Given the description of an element on the screen output the (x, y) to click on. 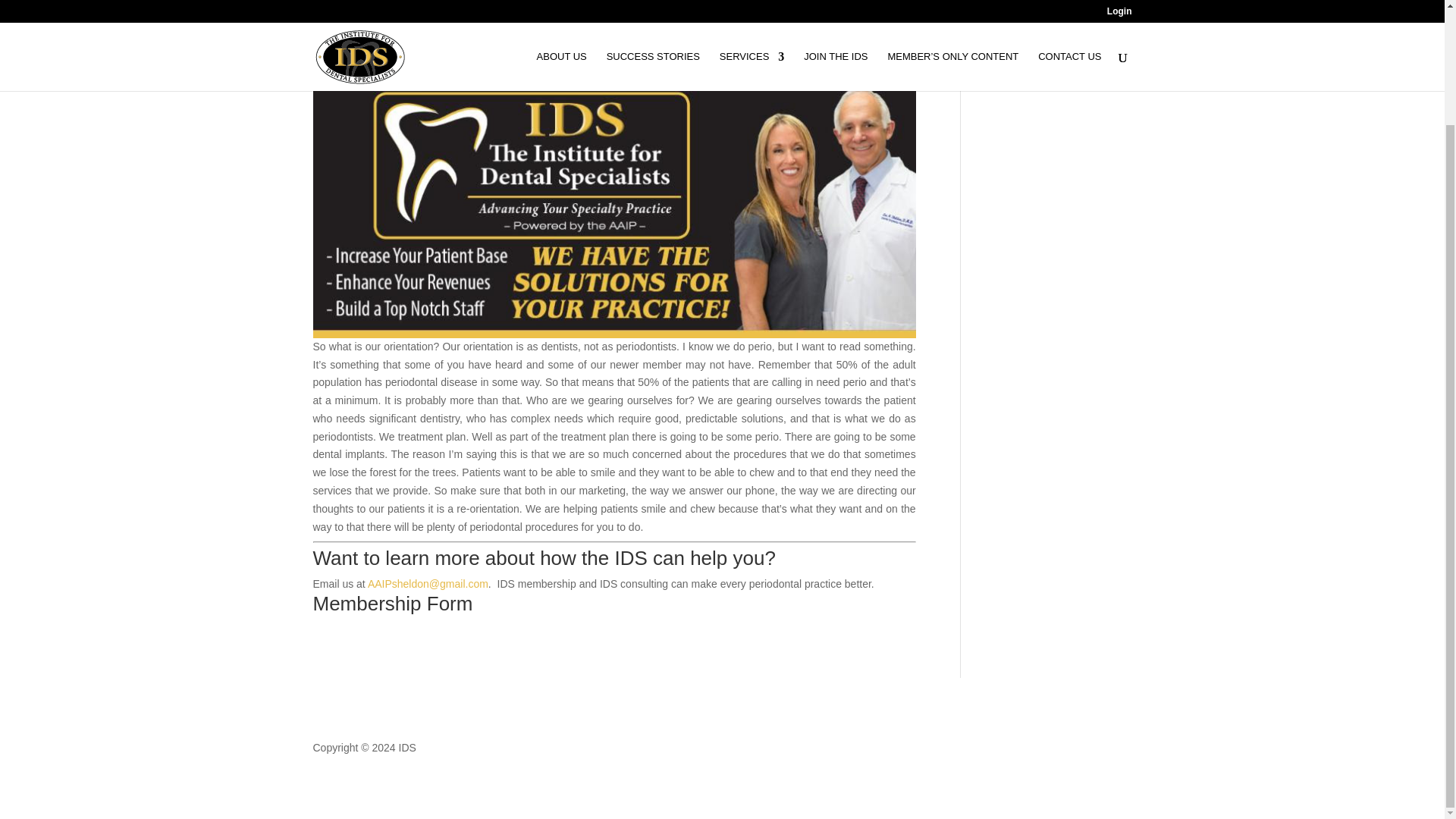
Posts by MoniqueWebb (360, 30)
Info Center (496, 30)
MoniqueWebb (360, 30)
Membership Form (392, 603)
